Given the description of an element on the screen output the (x, y) to click on. 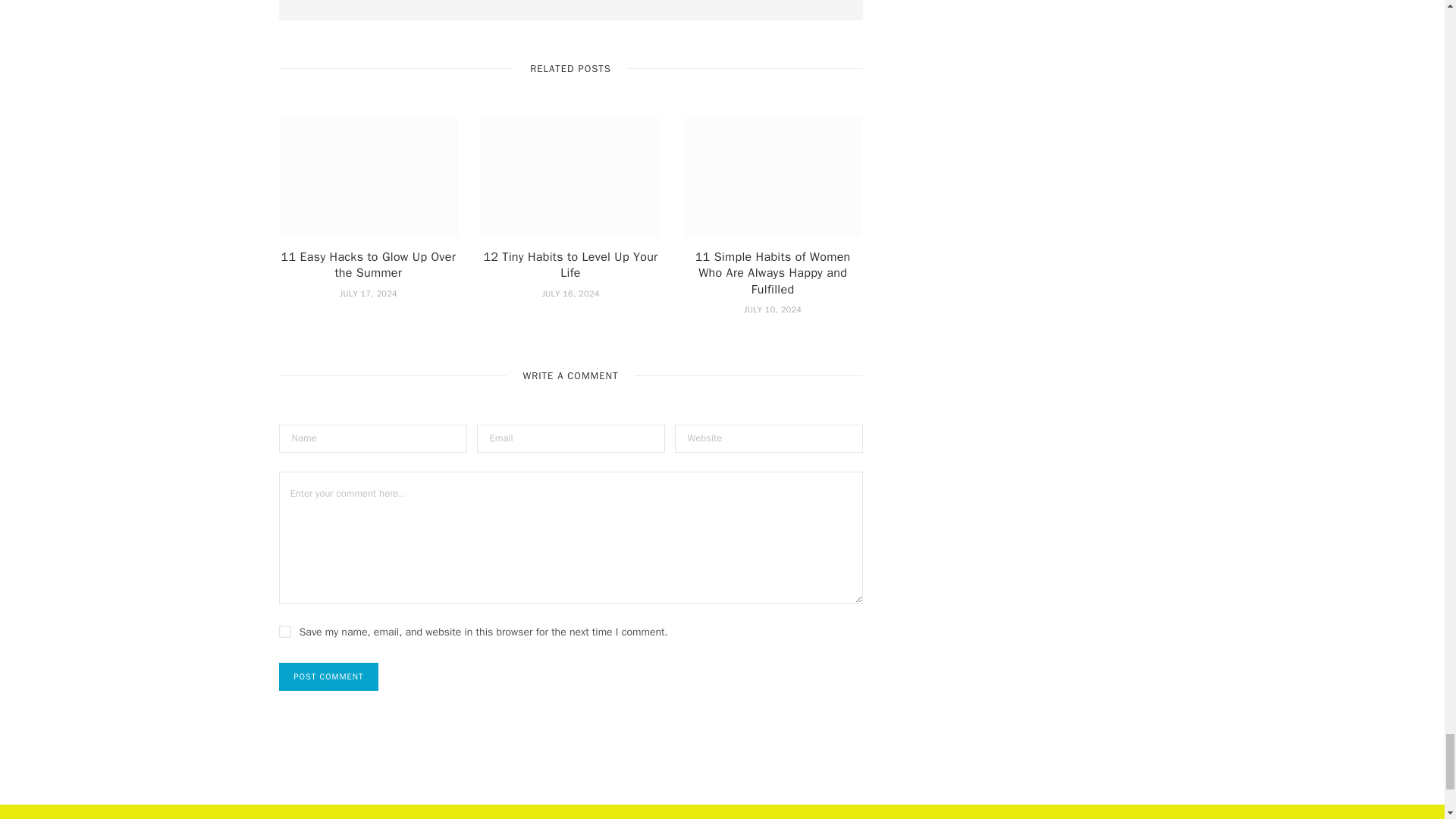
Post Comment (328, 676)
11 Simple Habits of Women Who Are Always Happy and Fulfilled (772, 177)
12 Tiny Habits to Level Up Your Life (570, 177)
11 Easy Hacks to Glow Up Over the Summer (368, 177)
yes (285, 631)
